Given the description of an element on the screen output the (x, y) to click on. 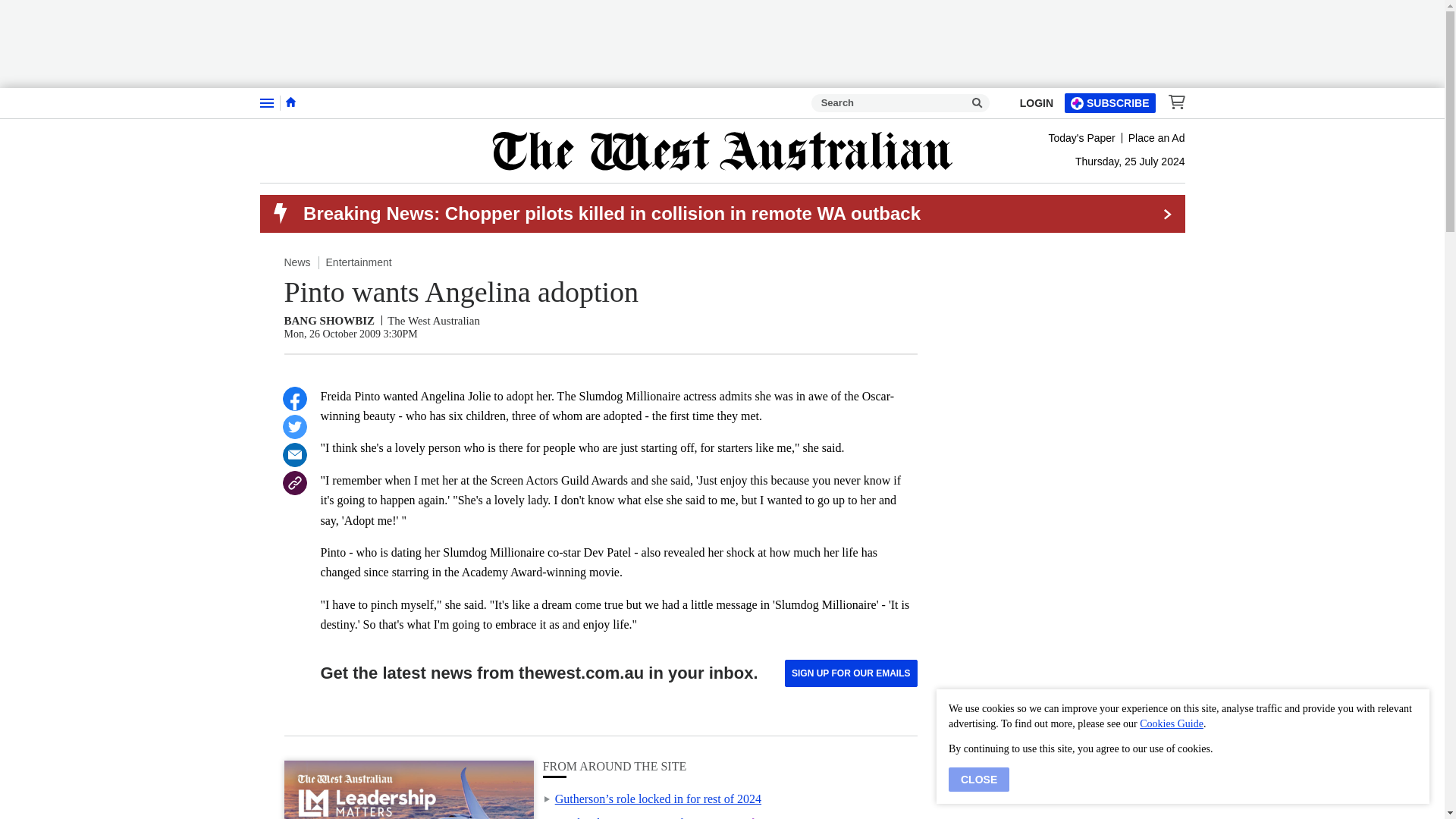
Empty Cart Icon (1172, 102)
Home (290, 102)
Please enter a search term. (977, 102)
